Given the description of an element on the screen output the (x, y) to click on. 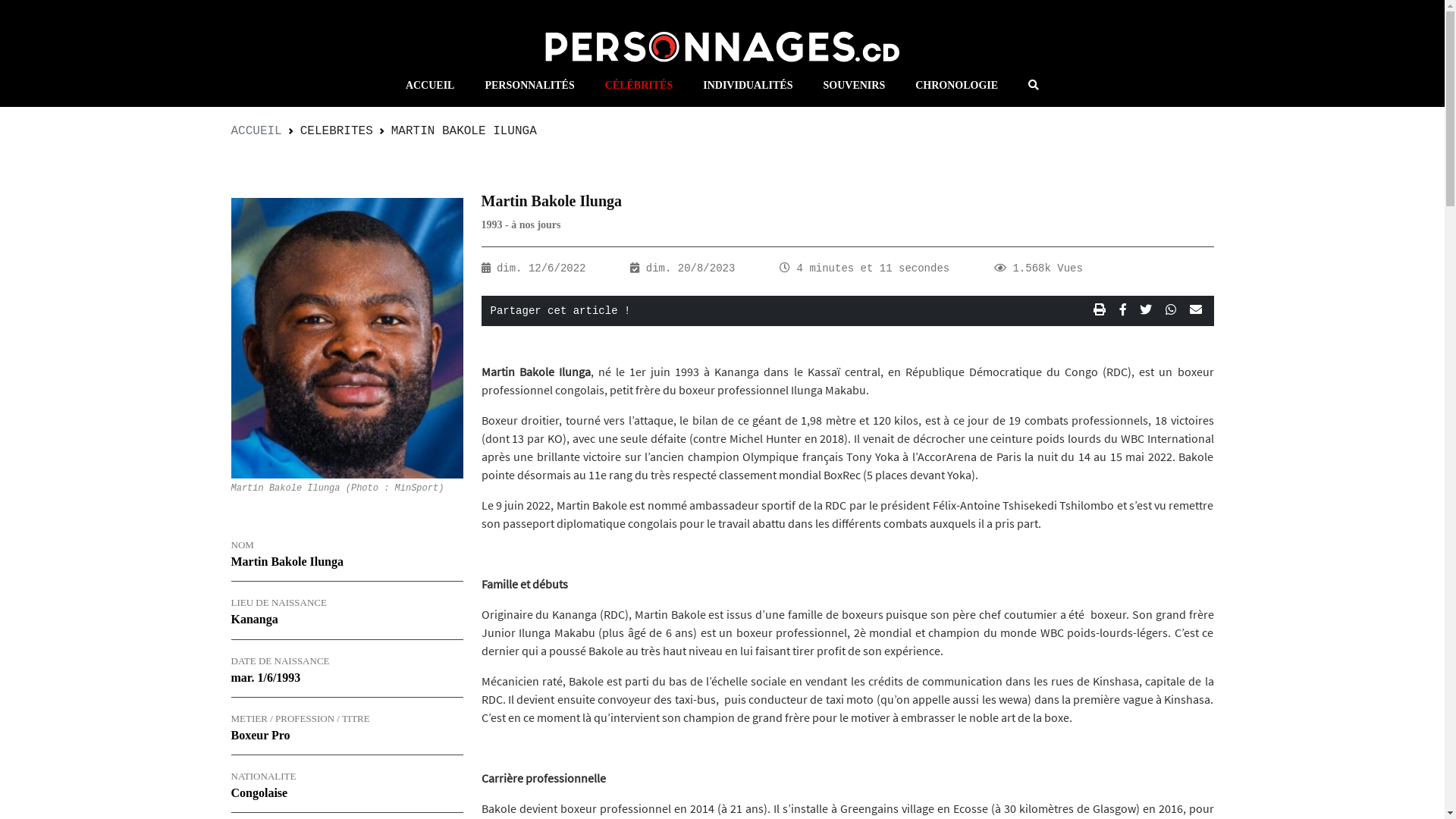
Share by Email Element type: hover (1195, 310)
CELEBRITES Element type: text (336, 131)
ACCUEIL Element type: text (255, 131)
ACCUEIL Element type: text (430, 84)
CHRONOLOGIE Element type: text (956, 84)
SOUVENIRS Element type: text (853, 84)
Share on whatsapp Element type: hover (1174, 310)
